Given the description of an element on the screen output the (x, y) to click on. 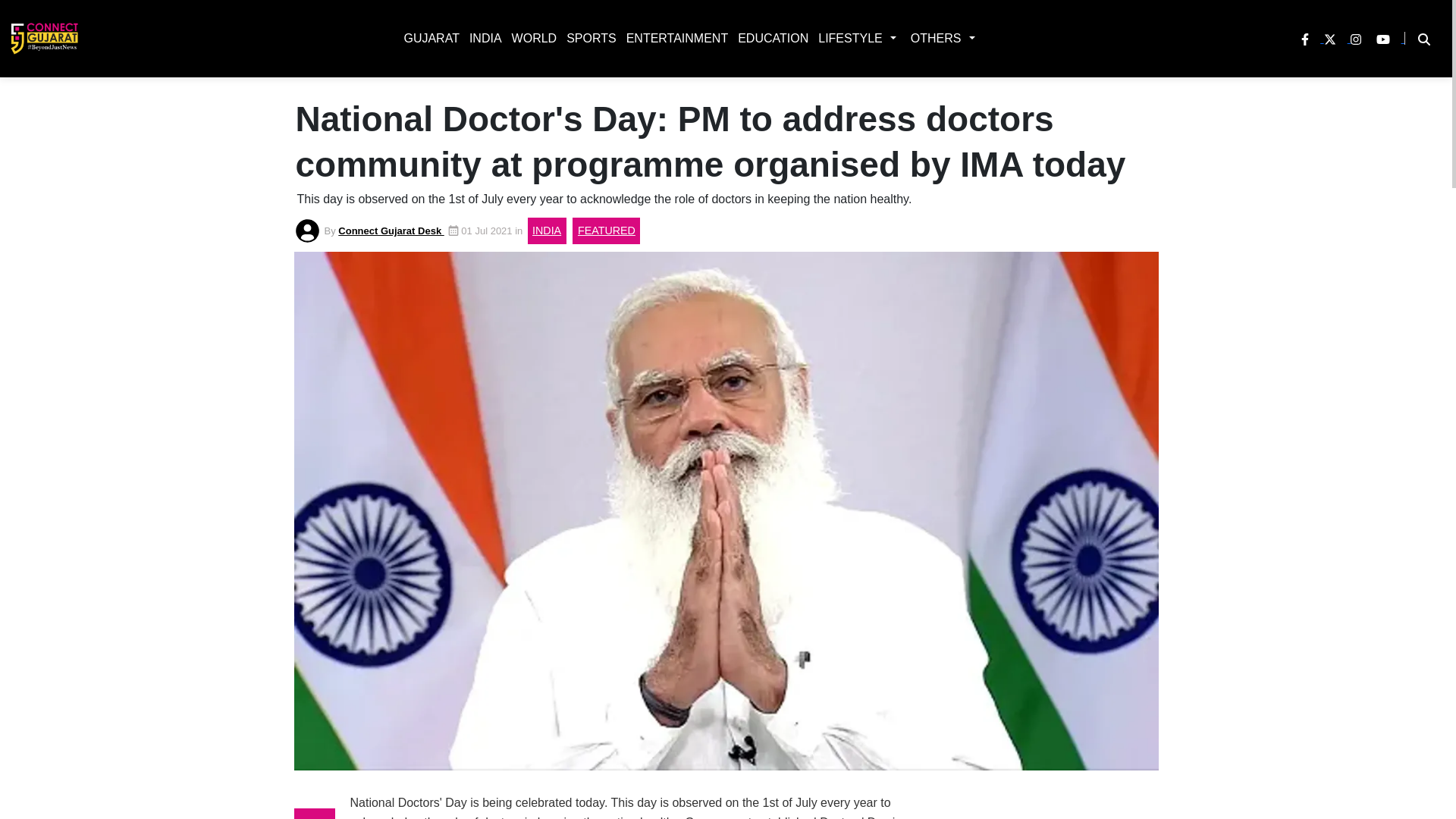
LIFESTYLE (847, 38)
ENTERTAINMENT (674, 38)
EDUCATION (770, 38)
GUJARAT (427, 38)
